Given the description of an element on the screen output the (x, y) to click on. 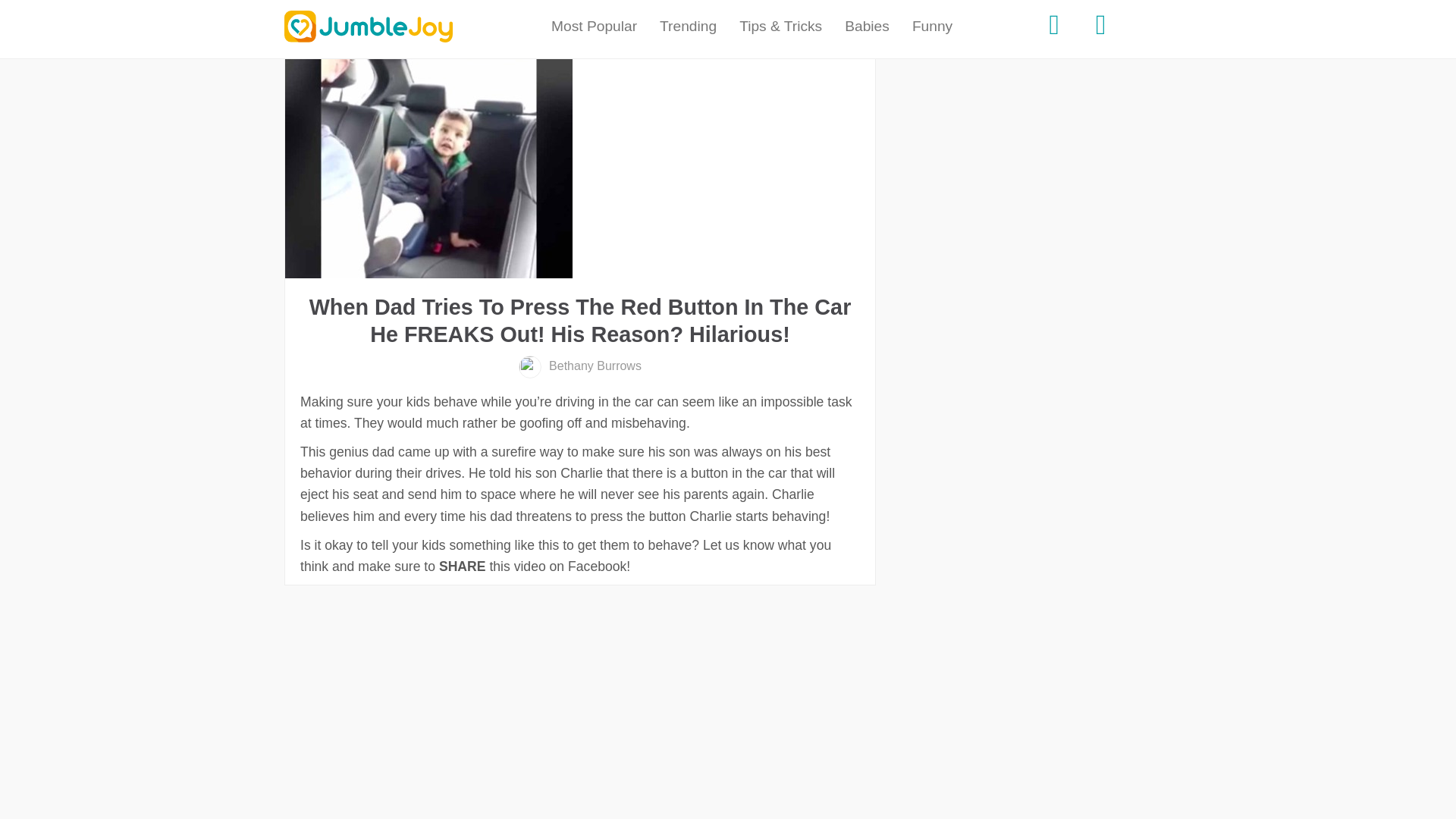
Trending (687, 26)
Babies (866, 26)
Most Popular (593, 26)
Funny (932, 26)
